Given the description of an element on the screen output the (x, y) to click on. 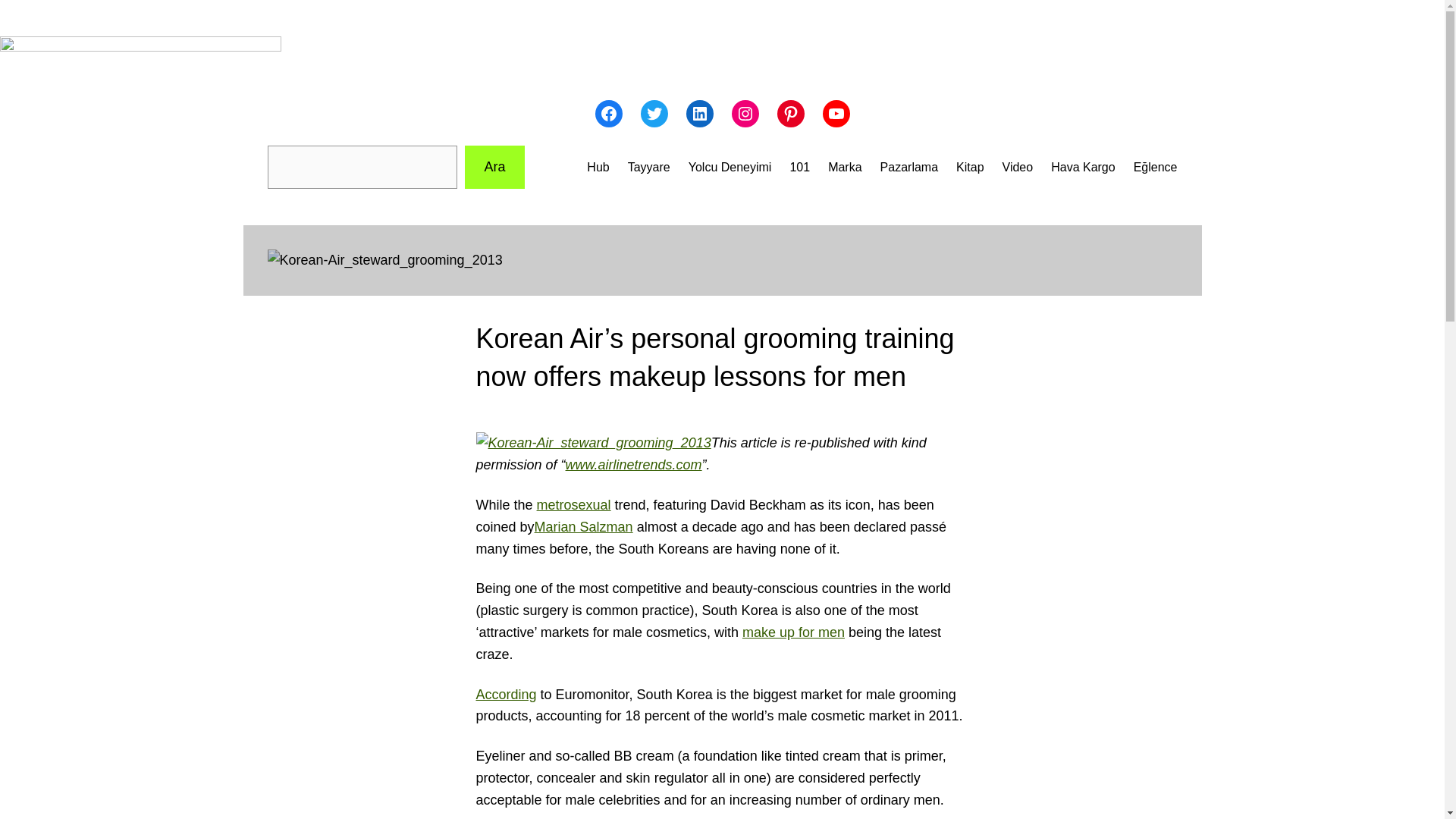
Instagram (744, 113)
YouTube (835, 113)
Hava Kargo (1083, 167)
ntttttt (844, 167)
ntttttt (799, 167)
Tayyare (648, 167)
Hub (597, 167)
ntttttt (970, 167)
ntttttt (1018, 167)
According (506, 694)
